Given the description of an element on the screen output the (x, y) to click on. 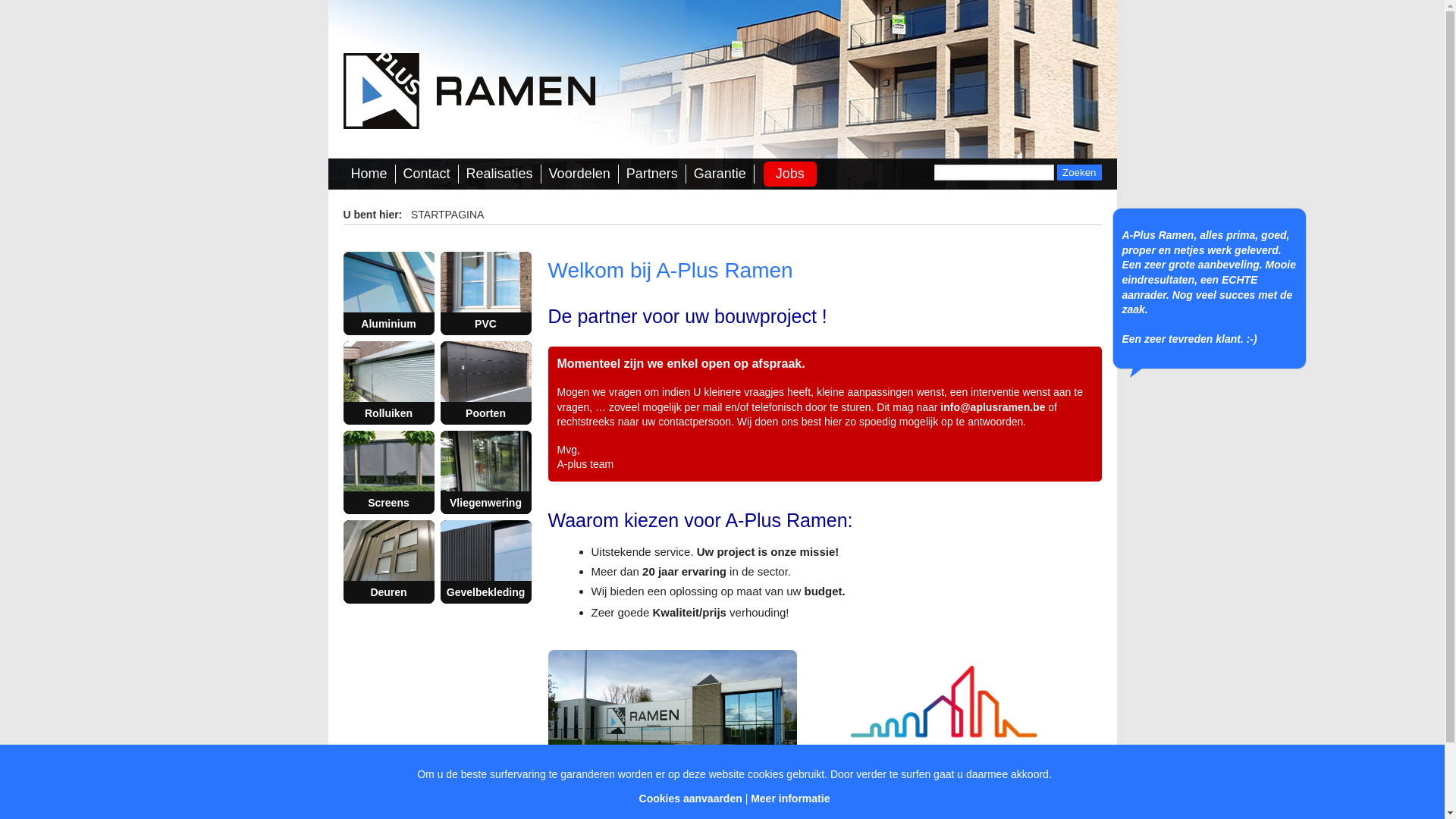
gebouw Aplus Element type: hover (672, 709)
Contact Element type: text (426, 173)
Screens Element type: text (387, 472)
Meer informatie Element type: text (789, 798)
Poorten Element type: text (484, 382)
Realisaties Element type: text (499, 173)
Aluminium Element type: text (387, 293)
Cookies aanvaarden Element type: text (690, 798)
Jobs Element type: text (789, 173)
Partners Element type: text (651, 173)
Home Element type: text (368, 173)
Vliegenwering Element type: text (484, 472)
Voordelen Element type: text (579, 173)
Rolluiken Element type: text (387, 382)
Gevelbekleding Element type: text (484, 561)
Deuren Element type: text (387, 561)
Garantie Element type: text (719, 173)
PVC Element type: text (484, 293)
Saint-Gobain Glas Expert Element type: hover (943, 717)
Zoeken Element type: text (1079, 172)
